Given the description of an element on the screen output the (x, y) to click on. 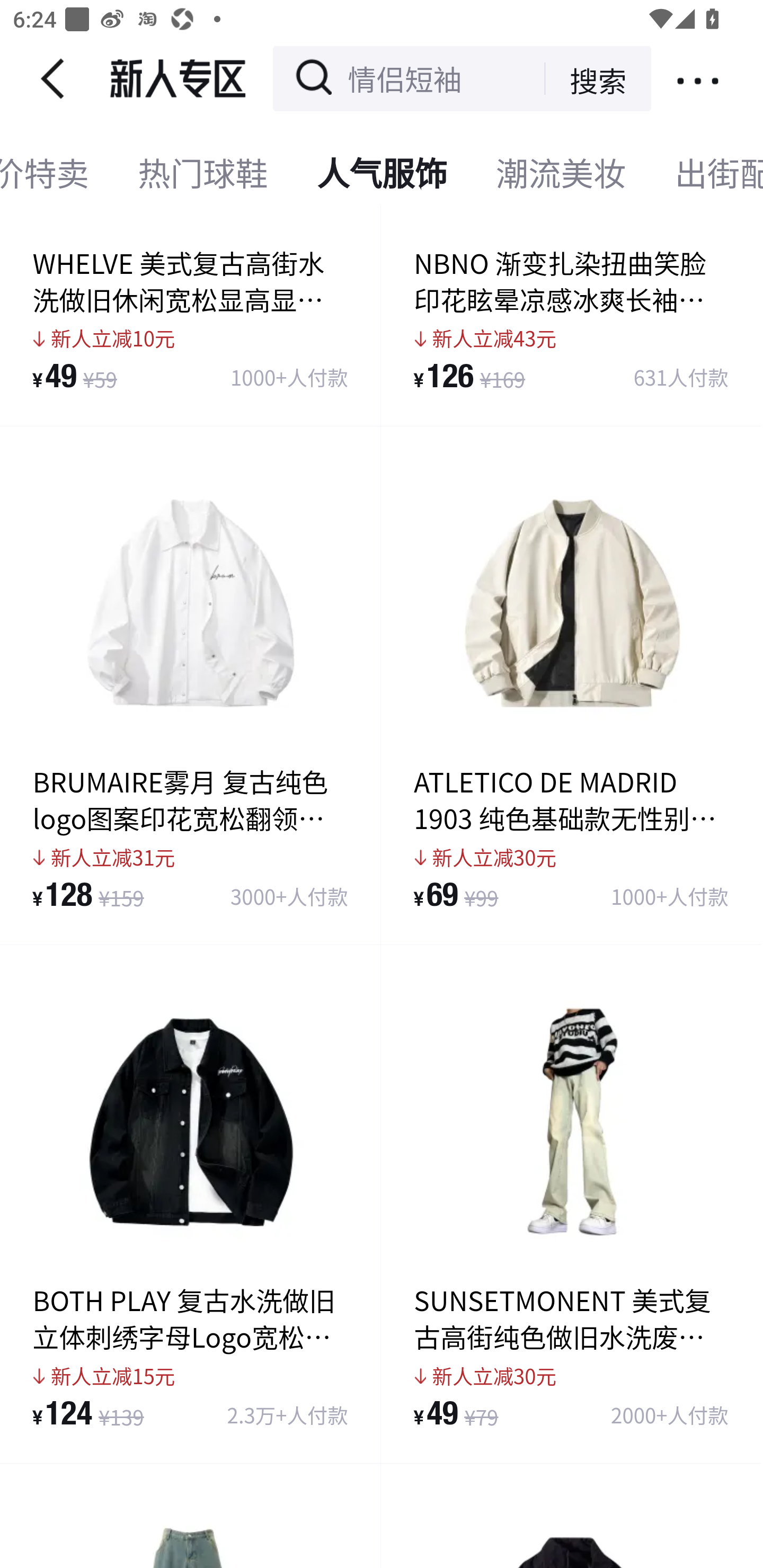
透气椰子 情侣短袖 (402, 78)
搜索 (585, 78)
